Given the description of an element on the screen output the (x, y) to click on. 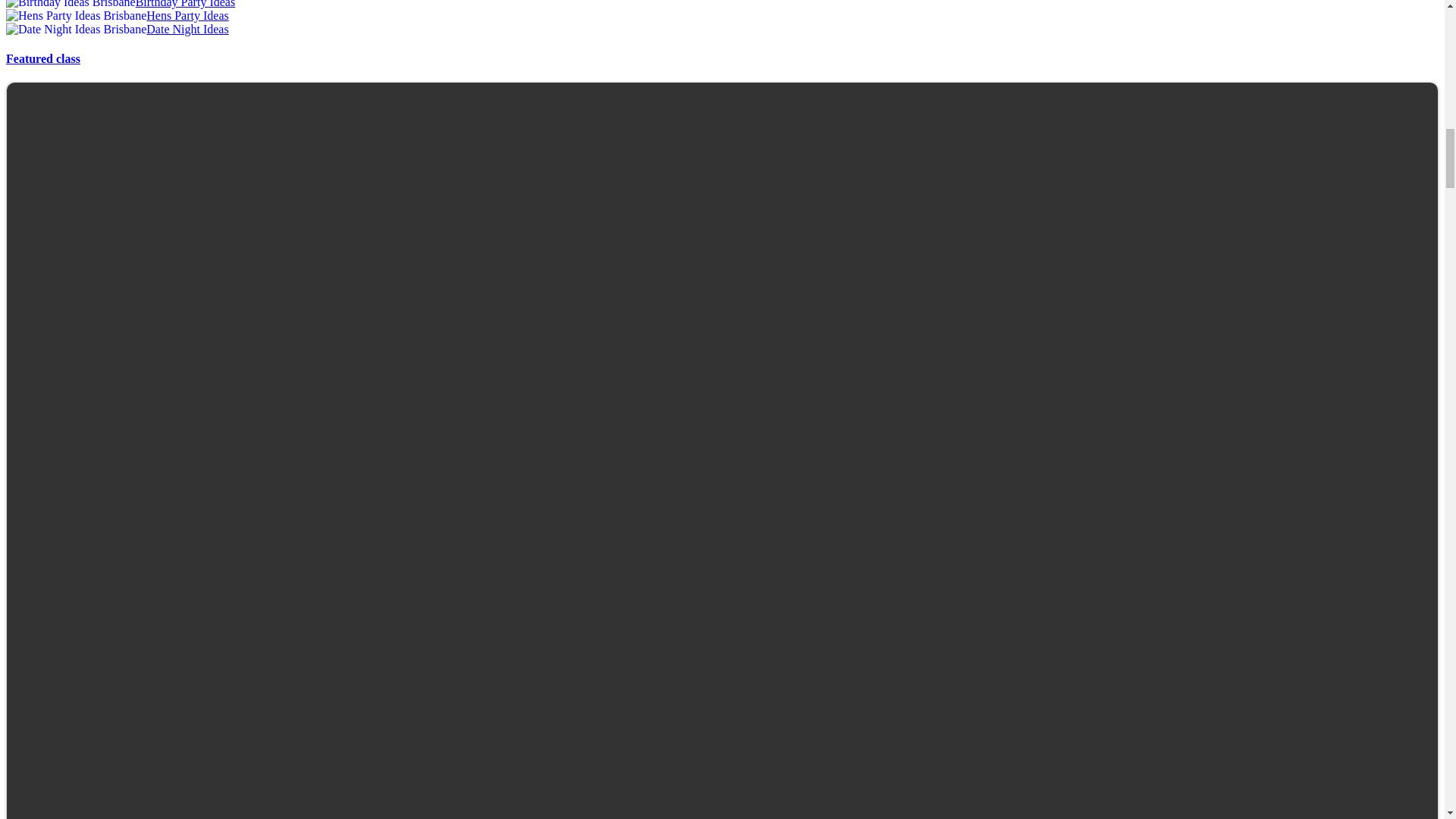
Featured class (42, 58)
